Given the description of an element on the screen output the (x, y) to click on. 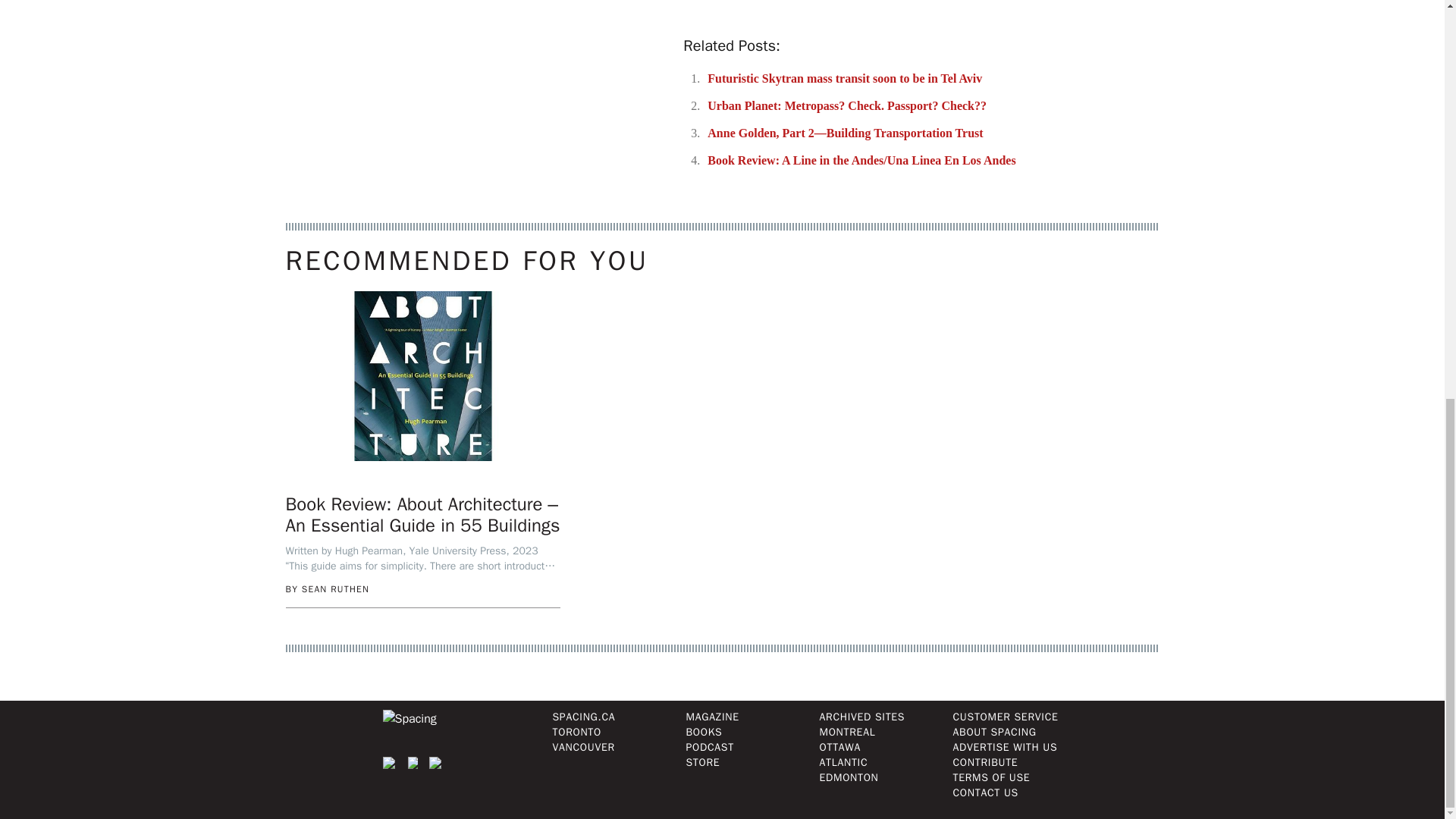
View all posts by Sean Ruthen (335, 589)
Futuristic Skytran mass transit soon to be in Tel Aviv (844, 78)
Urban Planet: Metropass? Check. Passport? Check?? (847, 105)
